Given the description of an element on the screen output the (x, y) to click on. 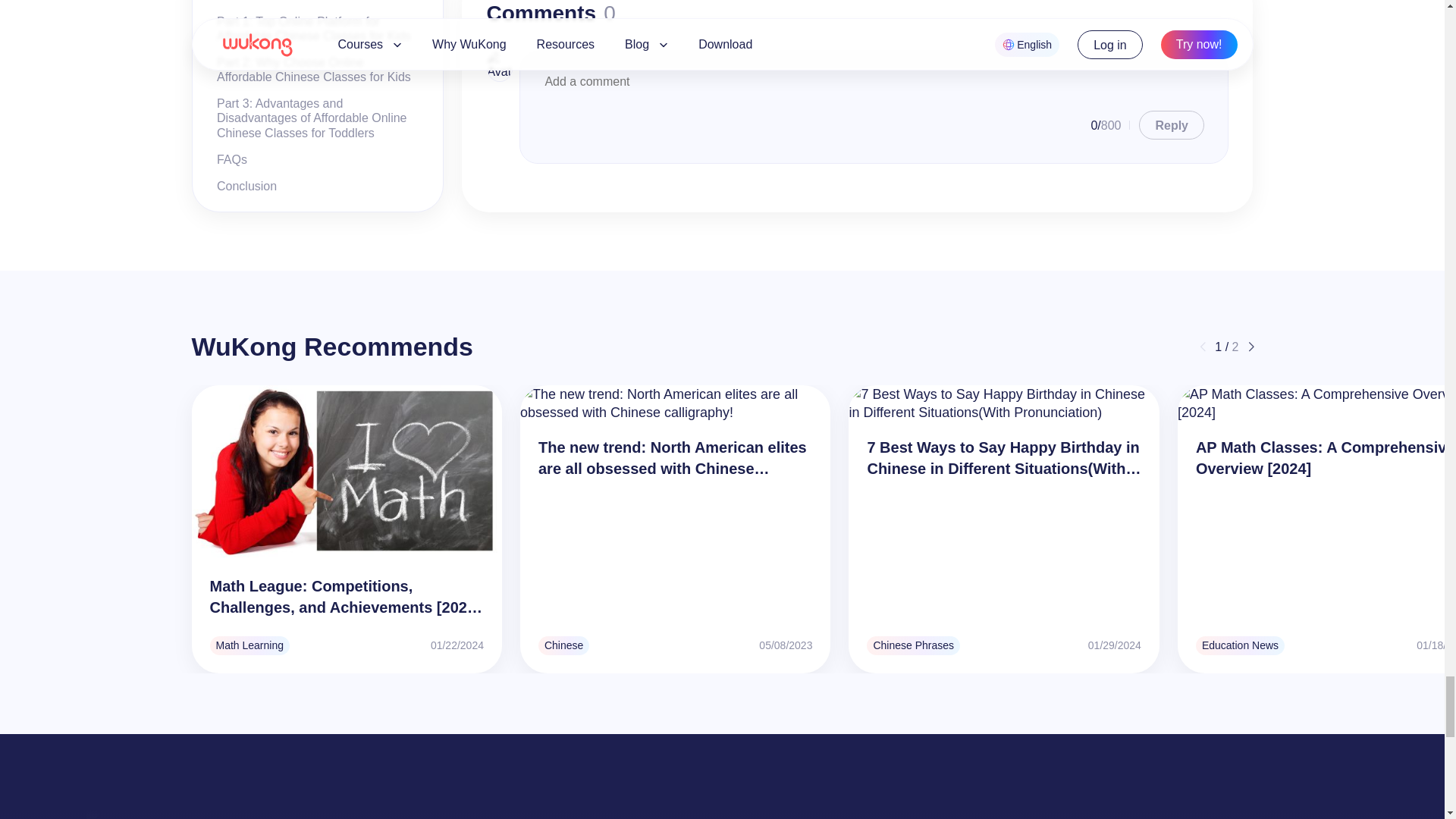
Chinese Phrases (912, 645)
Chinese (563, 645)
Math Learning (249, 645)
